Given the description of an element on the screen output the (x, y) to click on. 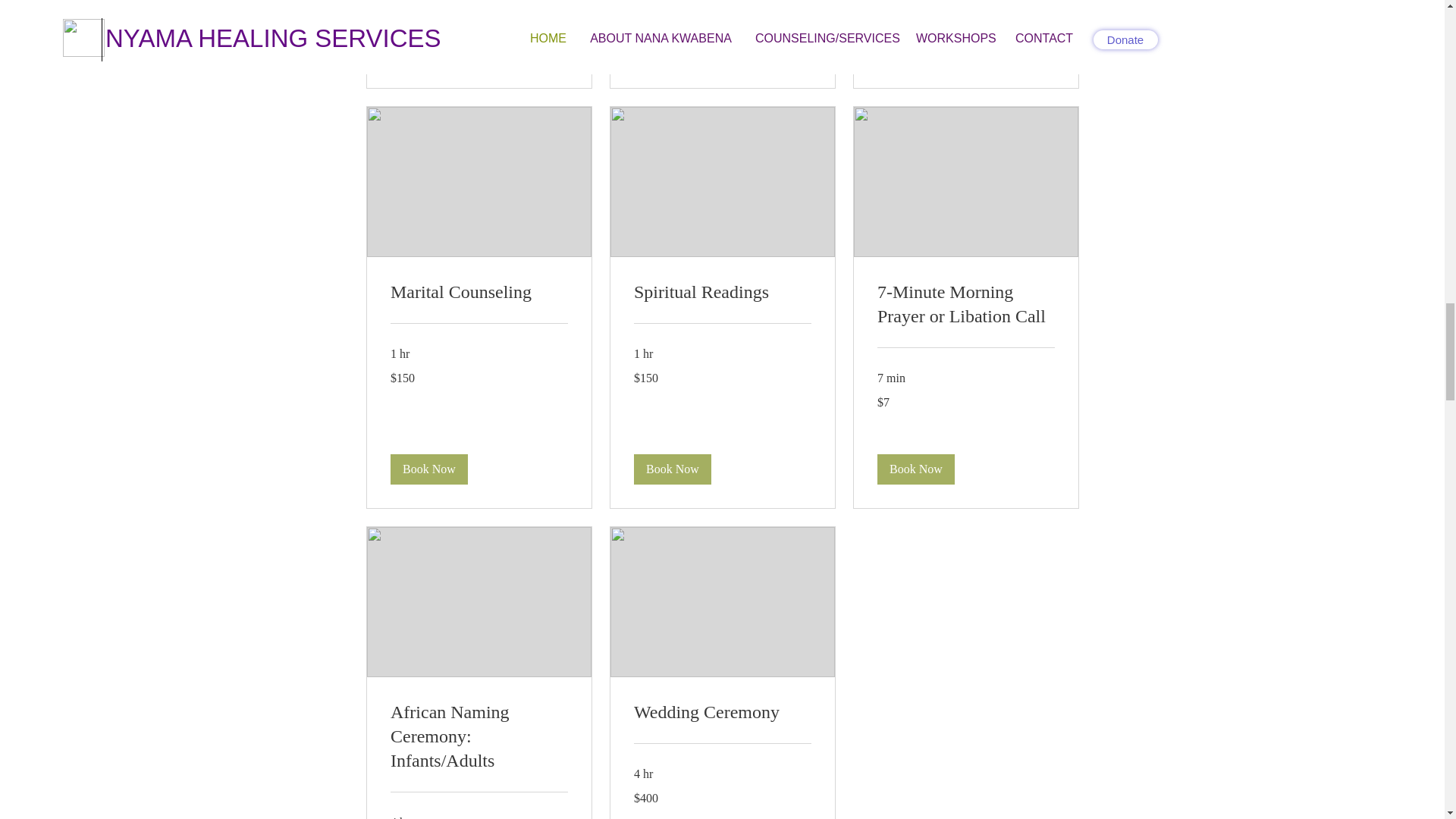
7-Minute Morning Prayer or Libation Call (965, 304)
Book Now (428, 49)
Book Now (428, 469)
Book Now (914, 49)
Spiritual Readings (721, 292)
Marital Counseling (478, 292)
Book Now (672, 49)
Book Now (914, 469)
Wedding Ceremony (721, 712)
Book Now (672, 469)
